Given the description of an element on the screen output the (x, y) to click on. 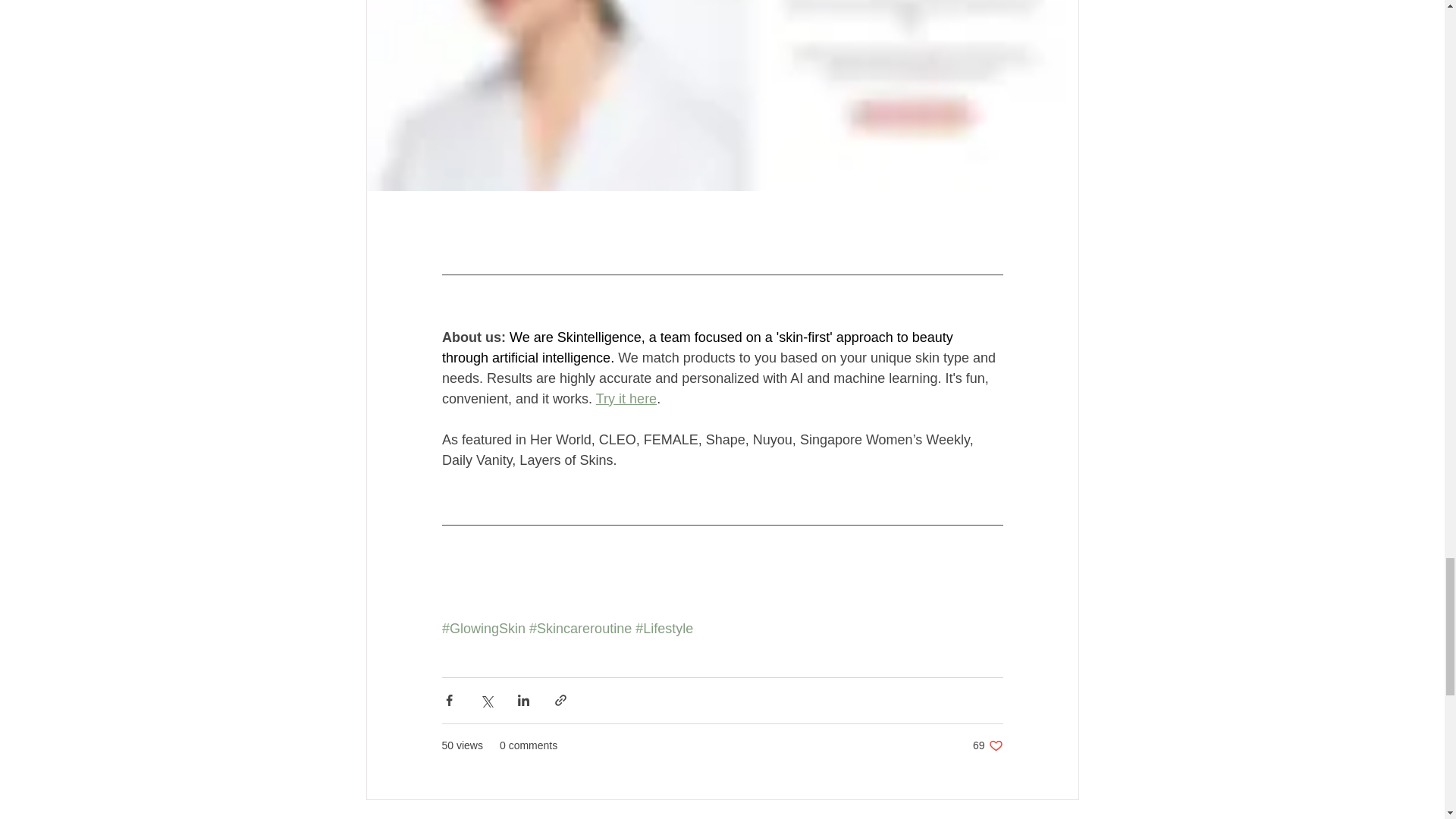
See All (1061, 818)
Try it here (625, 398)
